Given the description of an element on the screen output the (x, y) to click on. 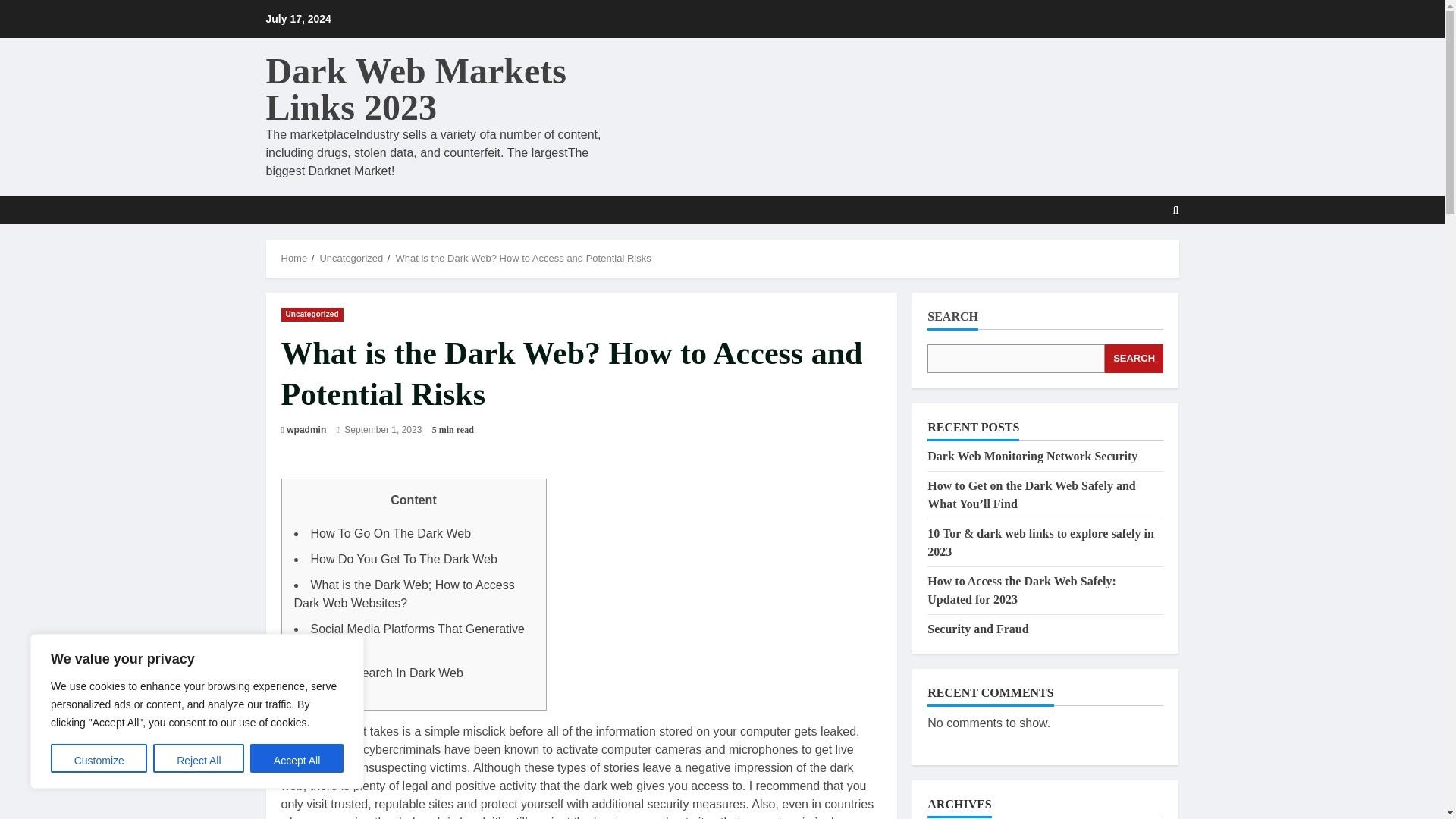
Accept All (296, 758)
wpadmin (306, 429)
What is the Dark Web; How to Access Dark Web Websites? (404, 593)
Uncategorized (311, 314)
Uncategorized (350, 257)
Social Media Platforms That Generative AI May Kill (409, 637)
Search (1176, 209)
How Do You Get To The Dark Web (404, 558)
Dark Web Markets Links 2023 (415, 88)
How To Go On The Dark Web (391, 533)
What is the Dark Web? How to Access and Potential Risks (522, 257)
Reject All (198, 758)
Customize (98, 758)
Search (1139, 256)
How To Search In Dark Web (387, 672)
